Given the description of an element on the screen output the (x, y) to click on. 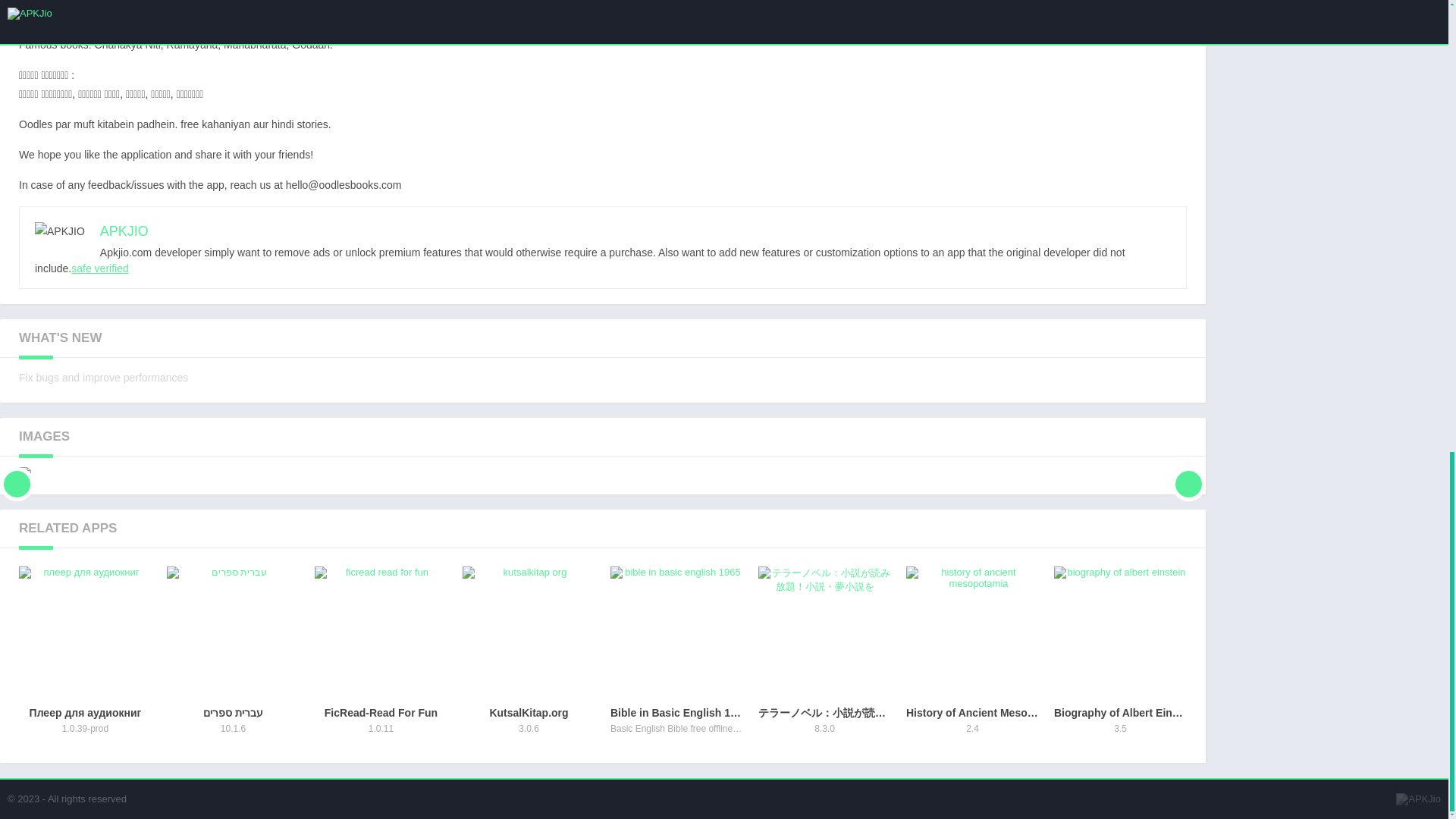
FicRead-Read For Fun (380, 658)
FicRead-Read For Fun 5 (380, 632)
APKJIO (529, 658)
safe verified (124, 231)
Next (380, 658)
Previous (1120, 658)
safe verified (99, 268)
